Given the description of an element on the screen output the (x, y) to click on. 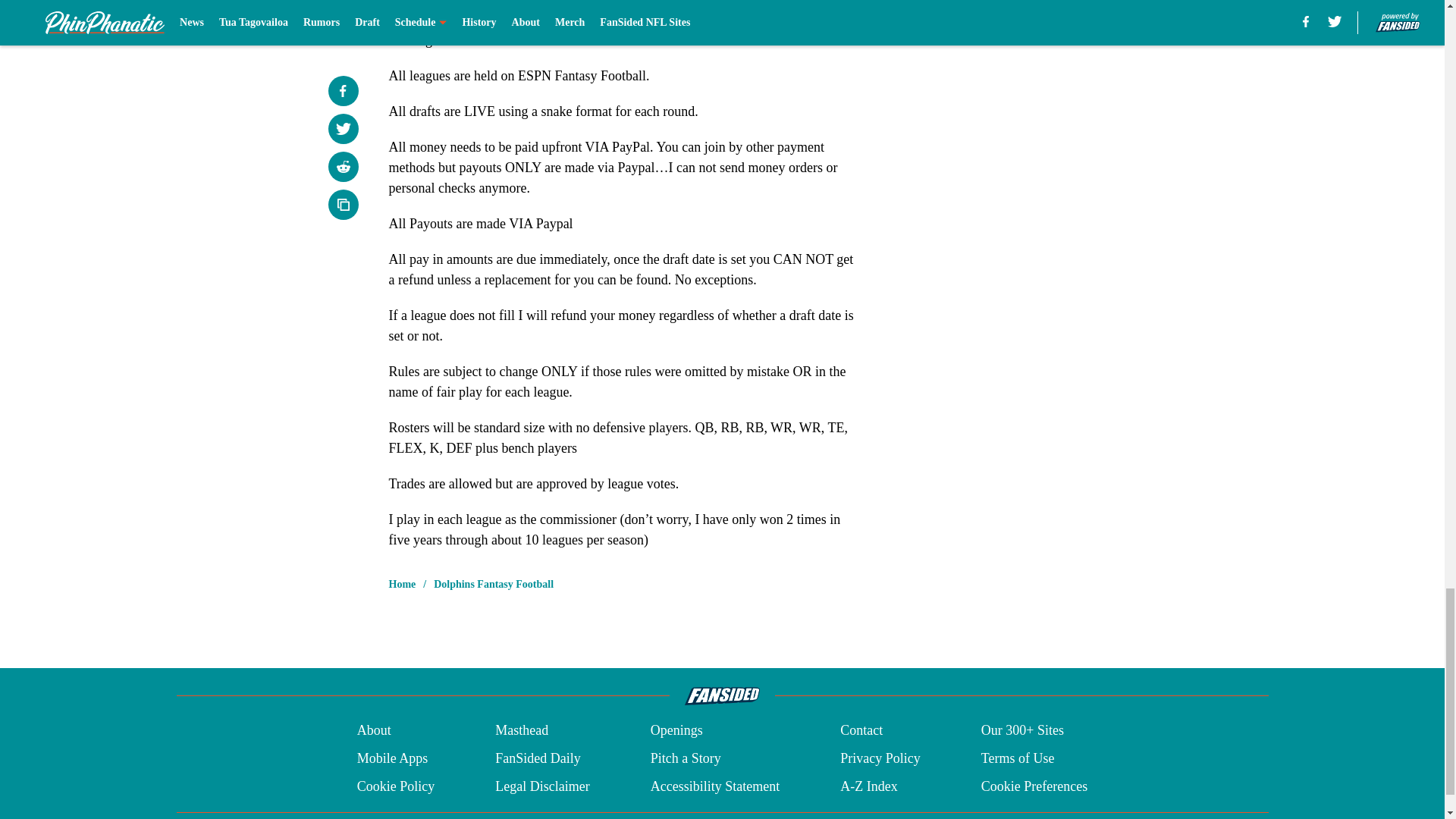
Legal Disclaimer (542, 786)
Cookie Policy (395, 786)
Openings (676, 730)
Privacy Policy (880, 758)
Mobile Apps (392, 758)
Accessibility Statement (714, 786)
Contact (861, 730)
Home (401, 584)
Masthead (521, 730)
Terms of Use (1017, 758)
